Given the description of an element on the screen output the (x, y) to click on. 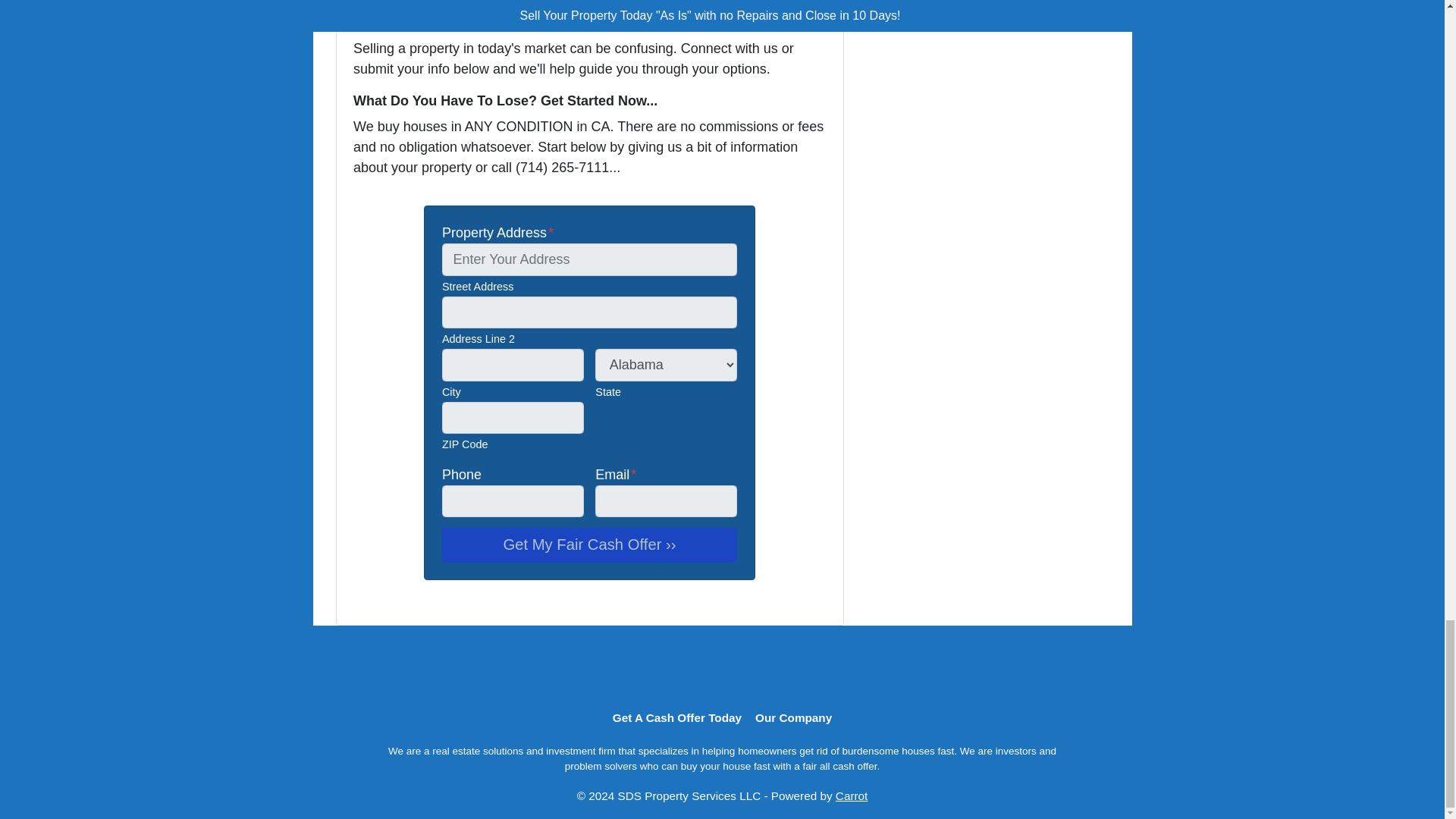
Get A Cash Offer Today (676, 718)
Our Company (793, 718)
Carrot (851, 795)
